Given the description of an element on the screen output the (x, y) to click on. 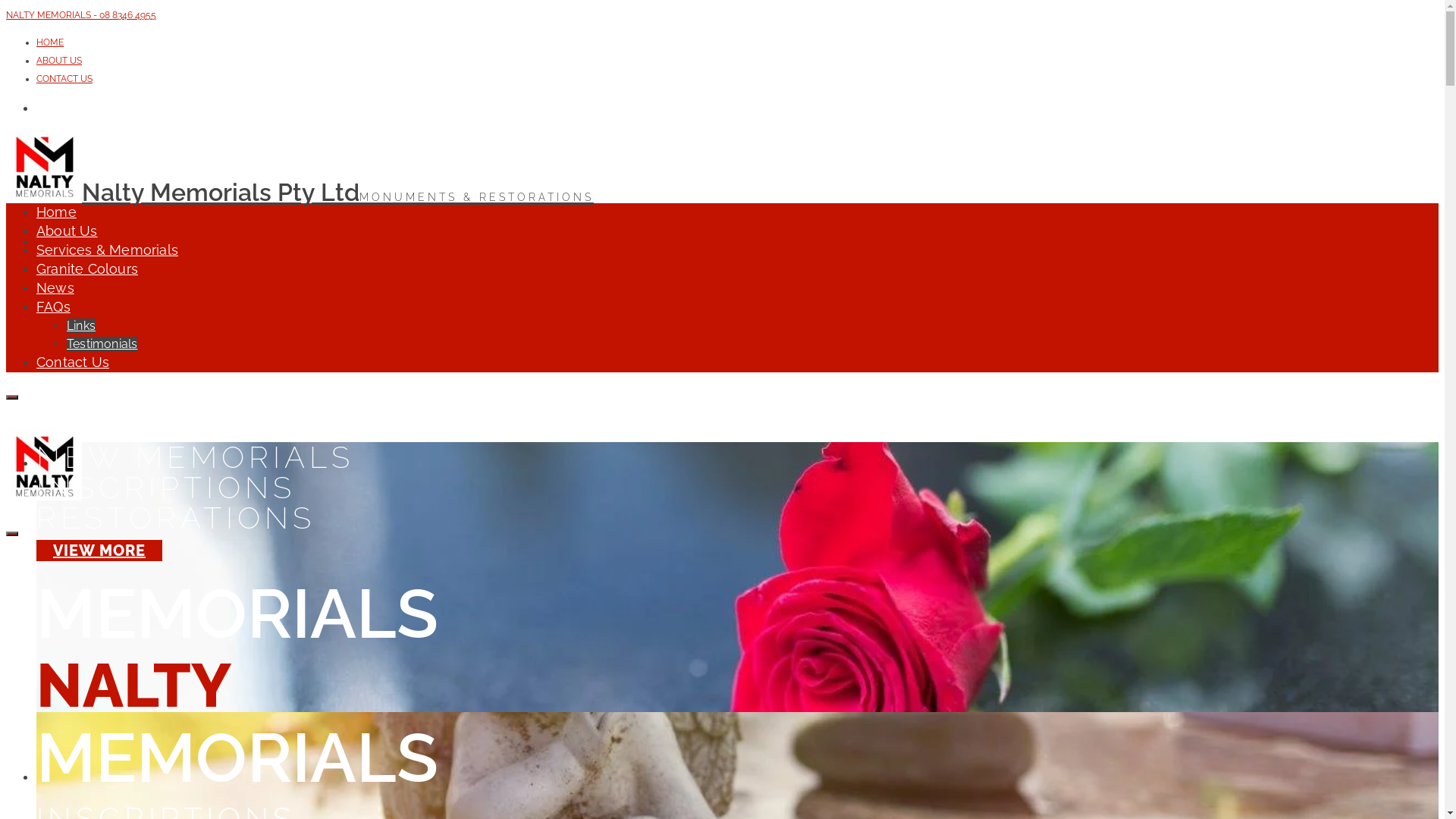
Contact Us Element type: text (72, 362)
Nalty Memorials Pty LtdMONUMENTS & RESTORATIONS Element type: text (299, 192)
Services & Memorials Element type: text (107, 249)
ABOUT US Element type: text (58, 60)
News Element type: text (55, 287)
HOME Element type: text (49, 42)
VIEW MORE Element type: text (99, 550)
Granite Colours Element type: text (87, 268)
Home Element type: text (56, 211)
Testimonials Element type: text (101, 343)
About Us Element type: text (66, 230)
Links Element type: text (80, 325)
FAQs Element type: text (53, 306)
NALTY MEMORIALS - 08 8346 4955 Element type: text (81, 14)
CONTACT US Element type: text (64, 78)
